Given the description of an element on the screen output the (x, y) to click on. 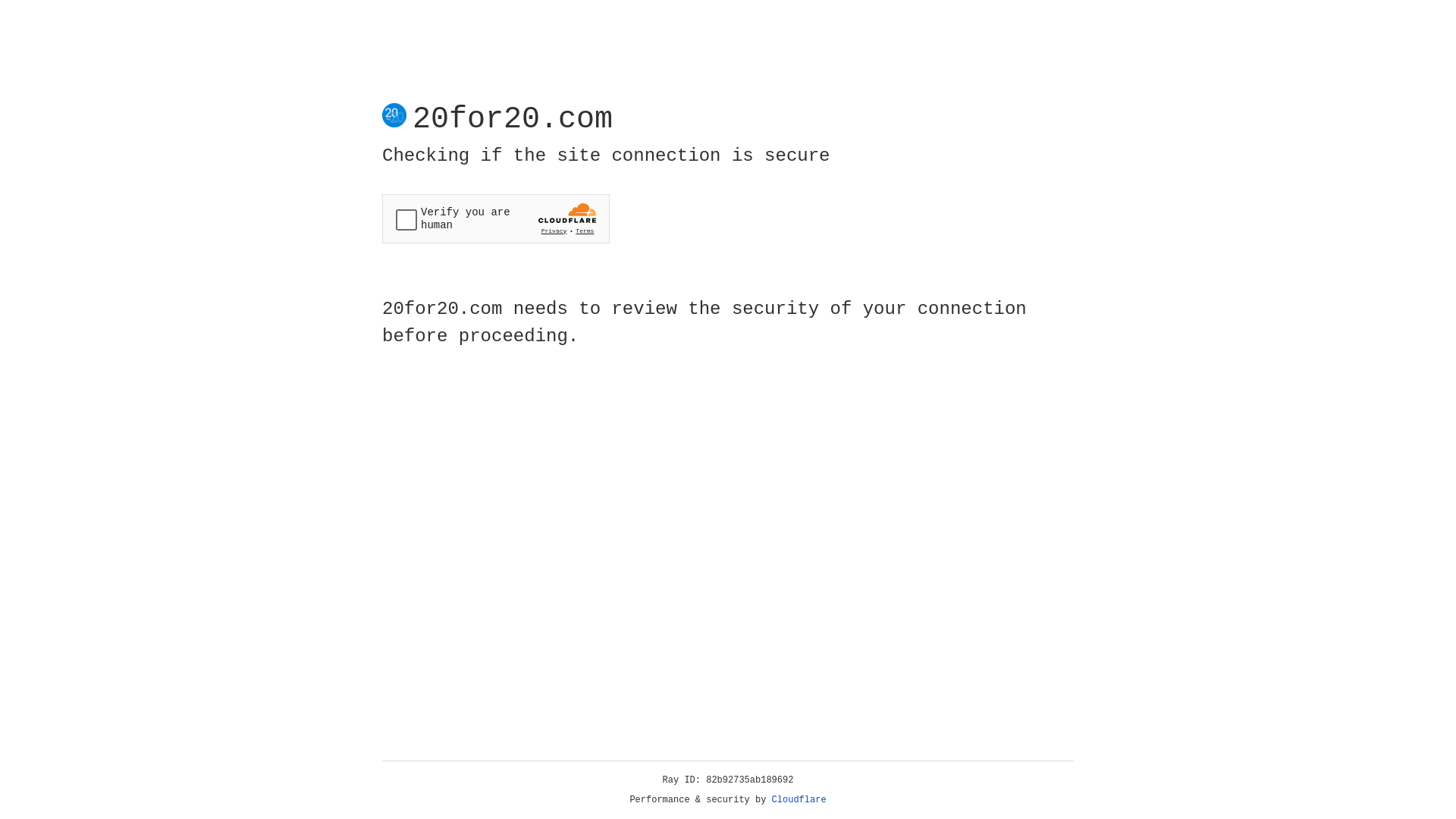
Widget containing a Cloudflare security challenge Element type: hover (495, 218)
Cloudflare Element type: text (798, 799)
